Given the description of an element on the screen output the (x, y) to click on. 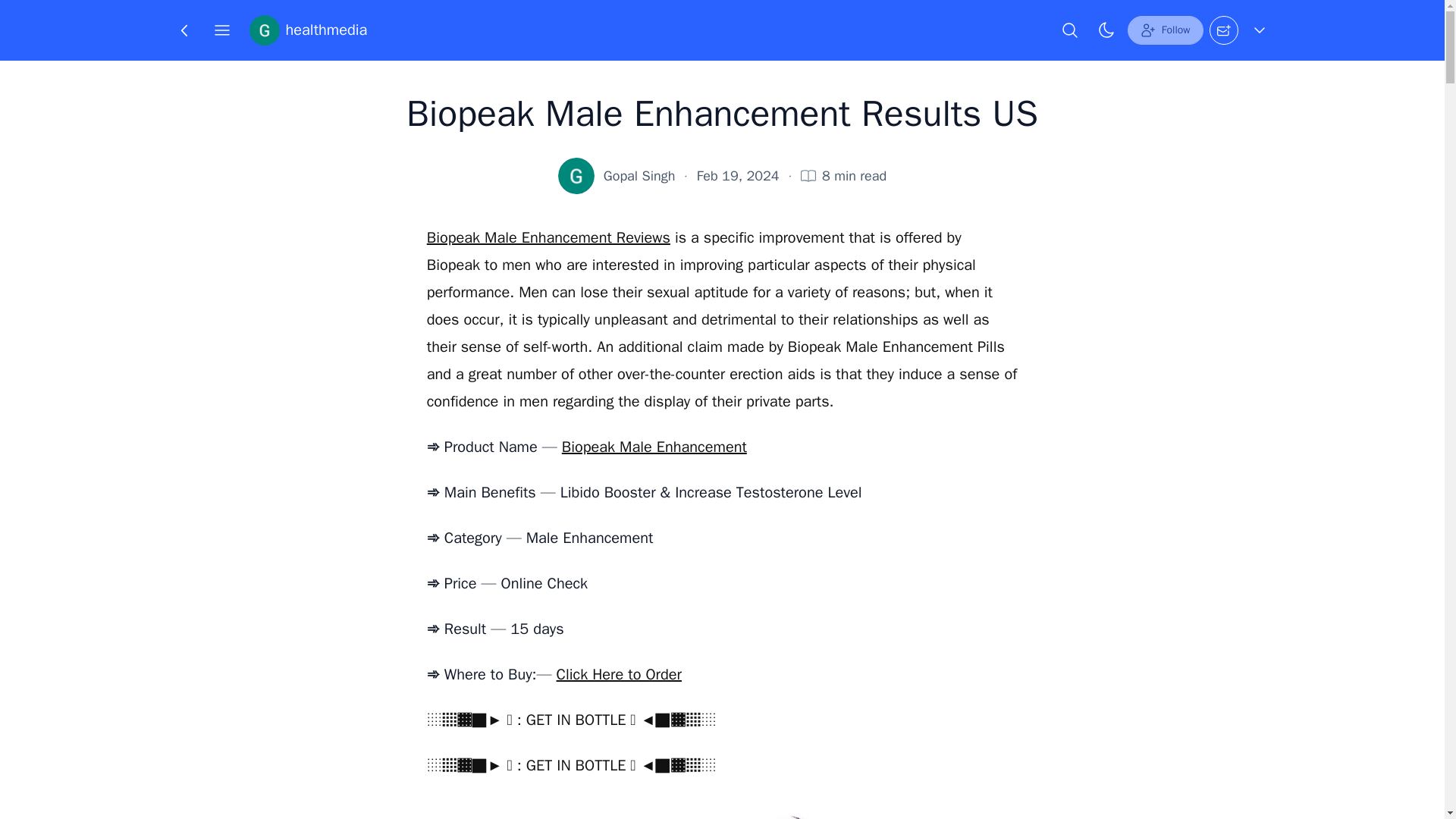
Gopal Singh (639, 175)
Feb 19, 2024 (737, 175)
Biopeak Male Enhancement (654, 446)
Biopeak Male Enhancement Reviews (547, 237)
Follow (1165, 30)
Click Here to Order (618, 674)
healthmedia (307, 30)
